Given the description of an element on the screen output the (x, y) to click on. 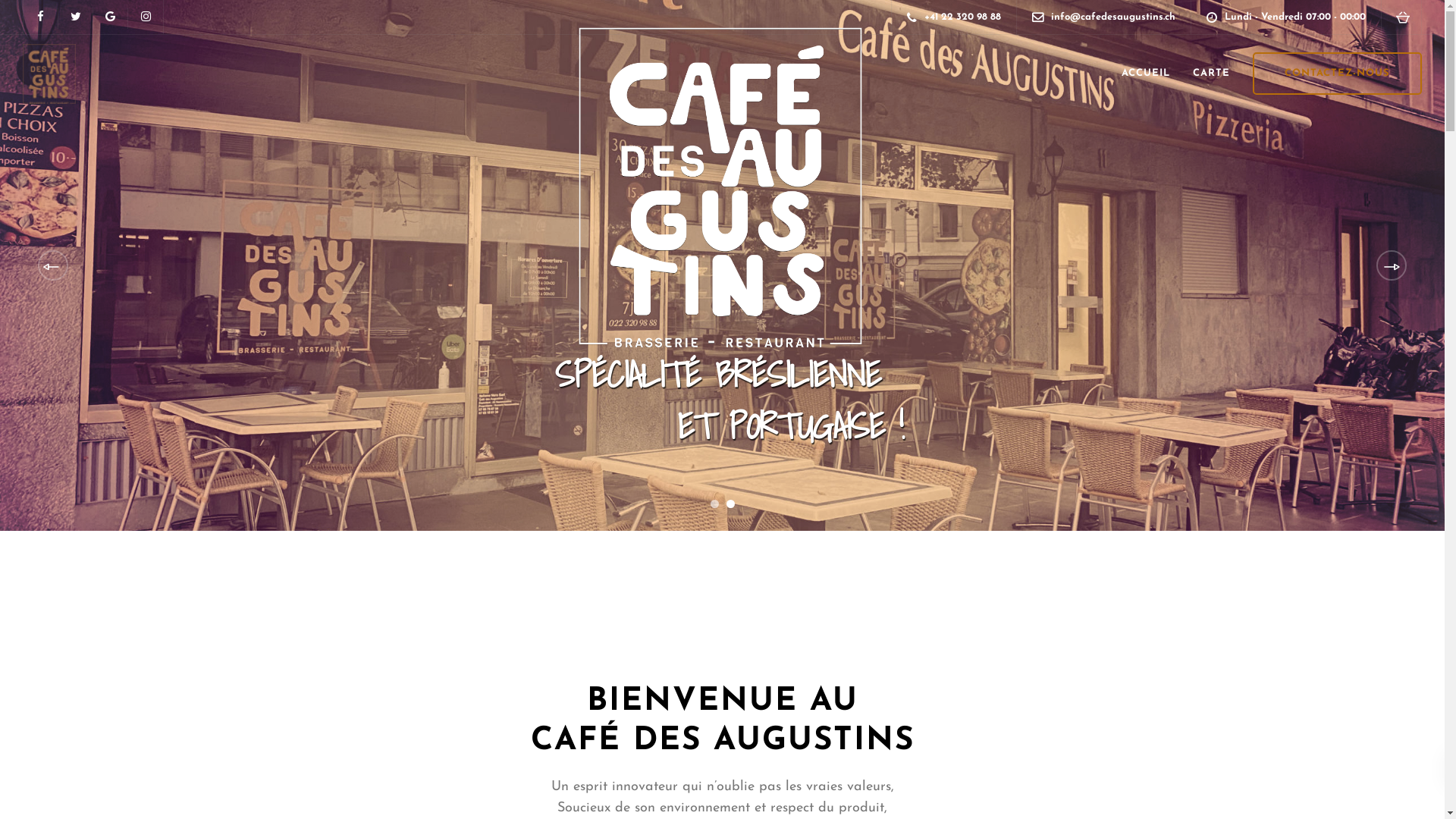
info@cafedesaugustins.ch Element type: text (1117, 16)
ACCUEIL Element type: text (1145, 72)
cart Element type: hover (1402, 16)
+41 22 320 98 88 Element type: text (966, 16)
CONTACTEZ-NOUS Element type: text (1336, 73)
CARTE Element type: text (1211, 72)
